Given the description of an element on the screen output the (x, y) to click on. 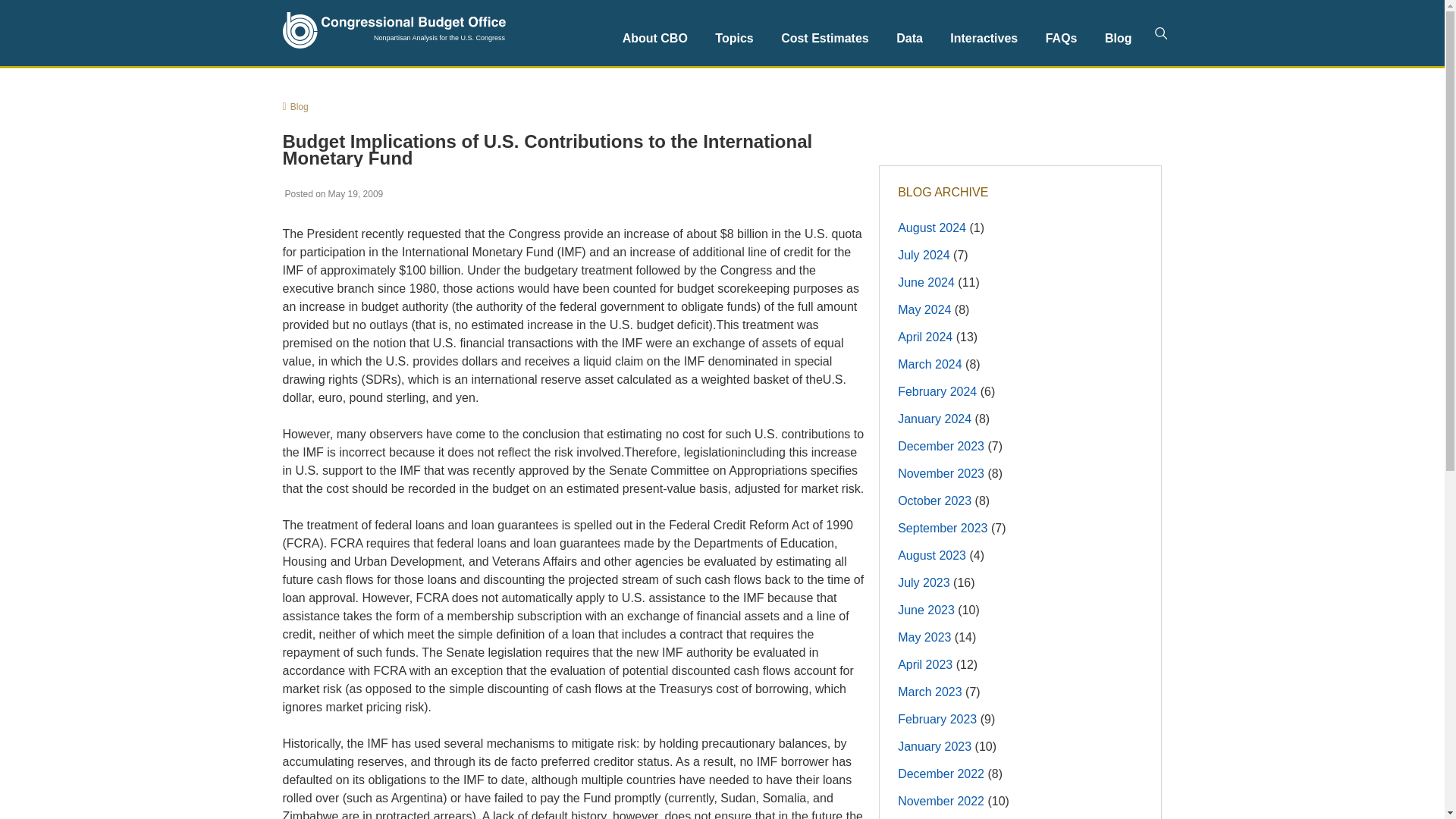
Blog (294, 105)
January 2024 (934, 418)
November 2023 (941, 472)
December 2022 (941, 773)
January 2023 (934, 746)
December 2023 (941, 445)
April 2024 (925, 336)
August 2024 (932, 227)
August 2023 (932, 554)
June 2023 (926, 609)
